Given the description of an element on the screen output the (x, y) to click on. 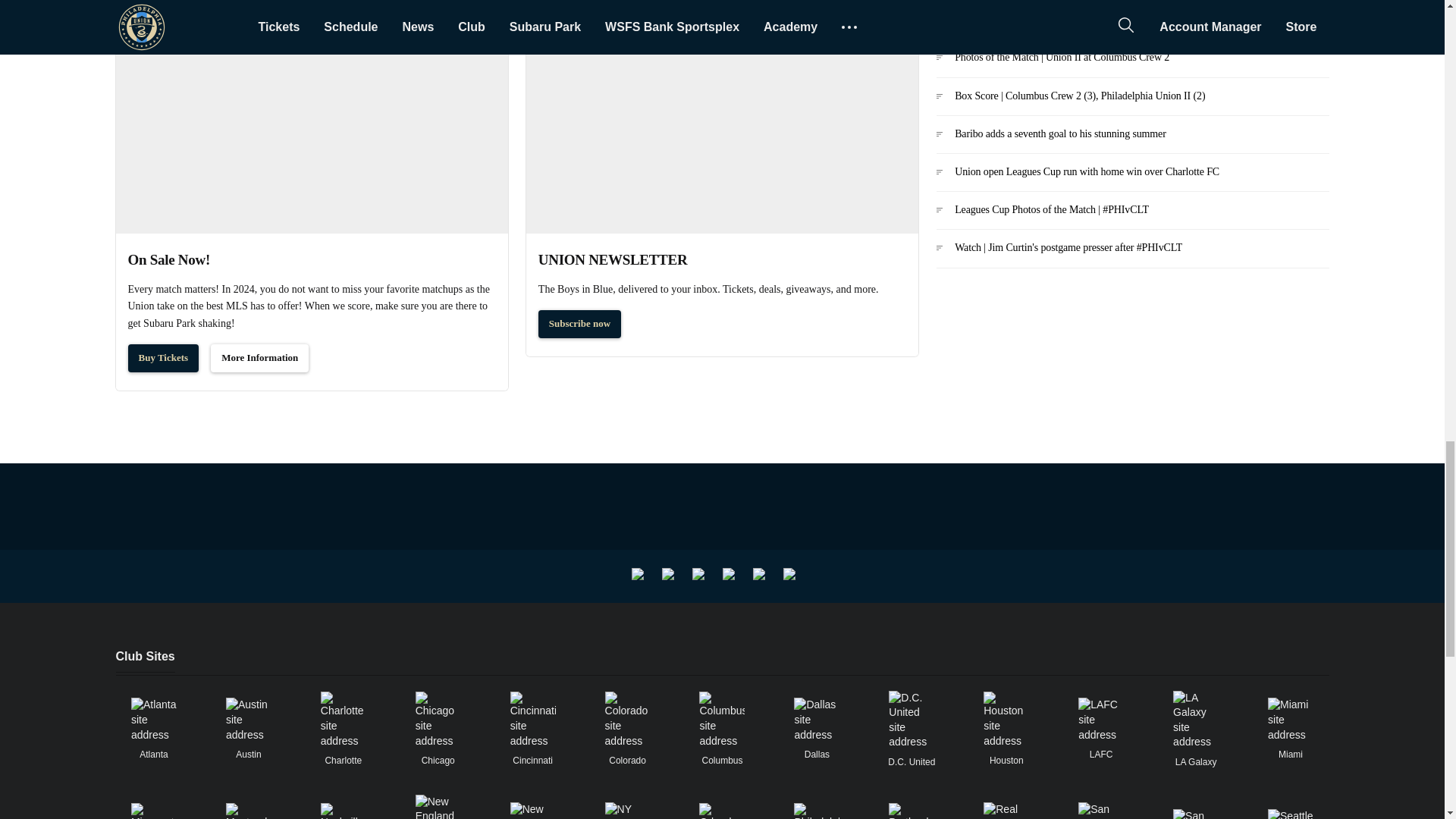
Union open Leagues Cup run with home win over Charlotte FC (1131, 177)
More Information (259, 357)
Union II falls late on the road at Columbus Crew 2 (1131, 25)
Link to Atlanta (153, 719)
Link to Austin (247, 719)
Buy Tickets (163, 357)
